Given the description of an element on the screen output the (x, y) to click on. 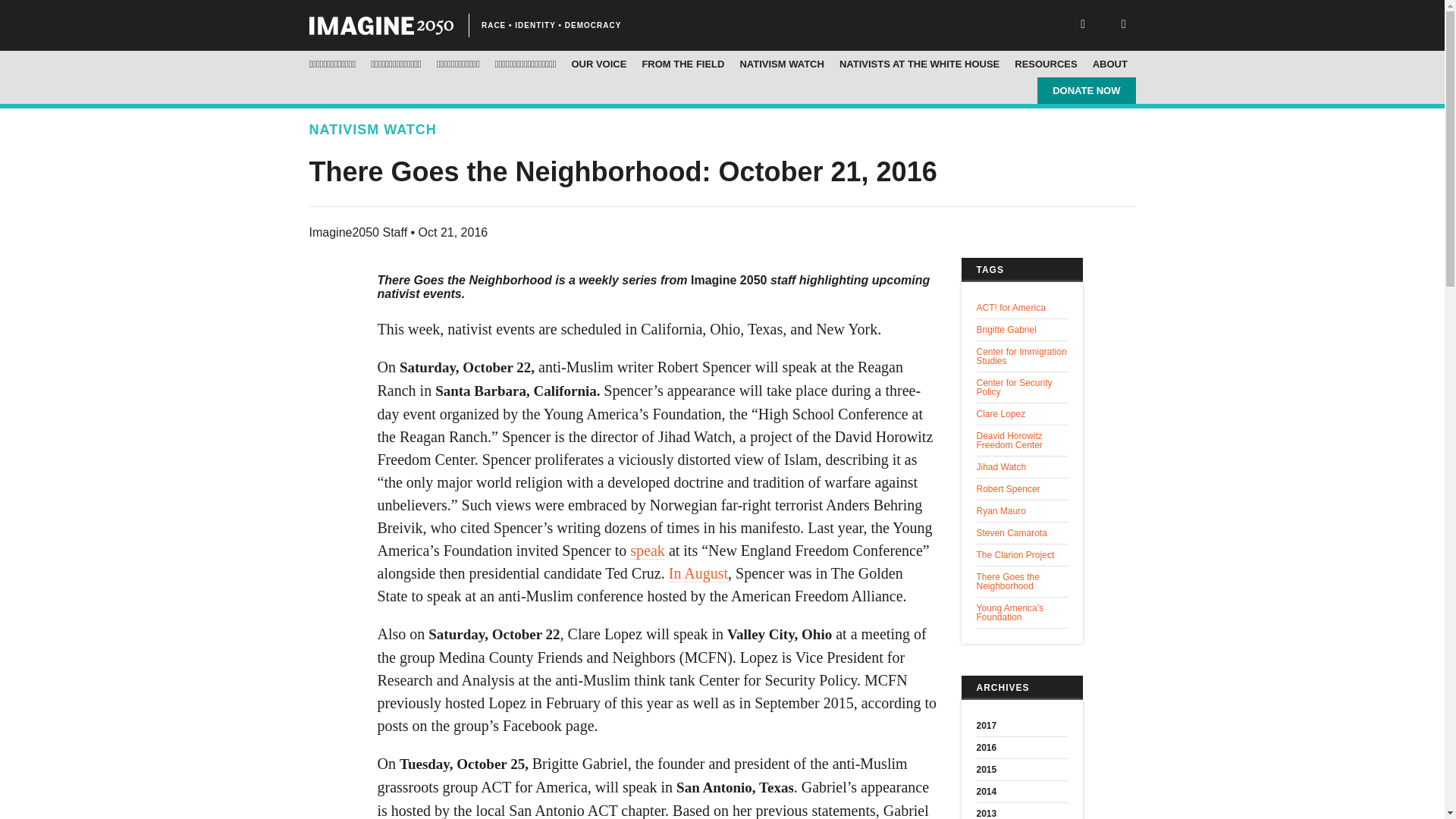
NATIVISTS AT THE WHITE HOUSE (919, 63)
RESOURCES (1045, 63)
FROM THE FIELD (682, 63)
Search (60, 13)
ABOUT (1109, 63)
DONATE NOW (1085, 90)
NATIVISM WATCH (781, 63)
OUR VOICE (598, 63)
CNC (380, 25)
